Given the description of an element on the screen output the (x, y) to click on. 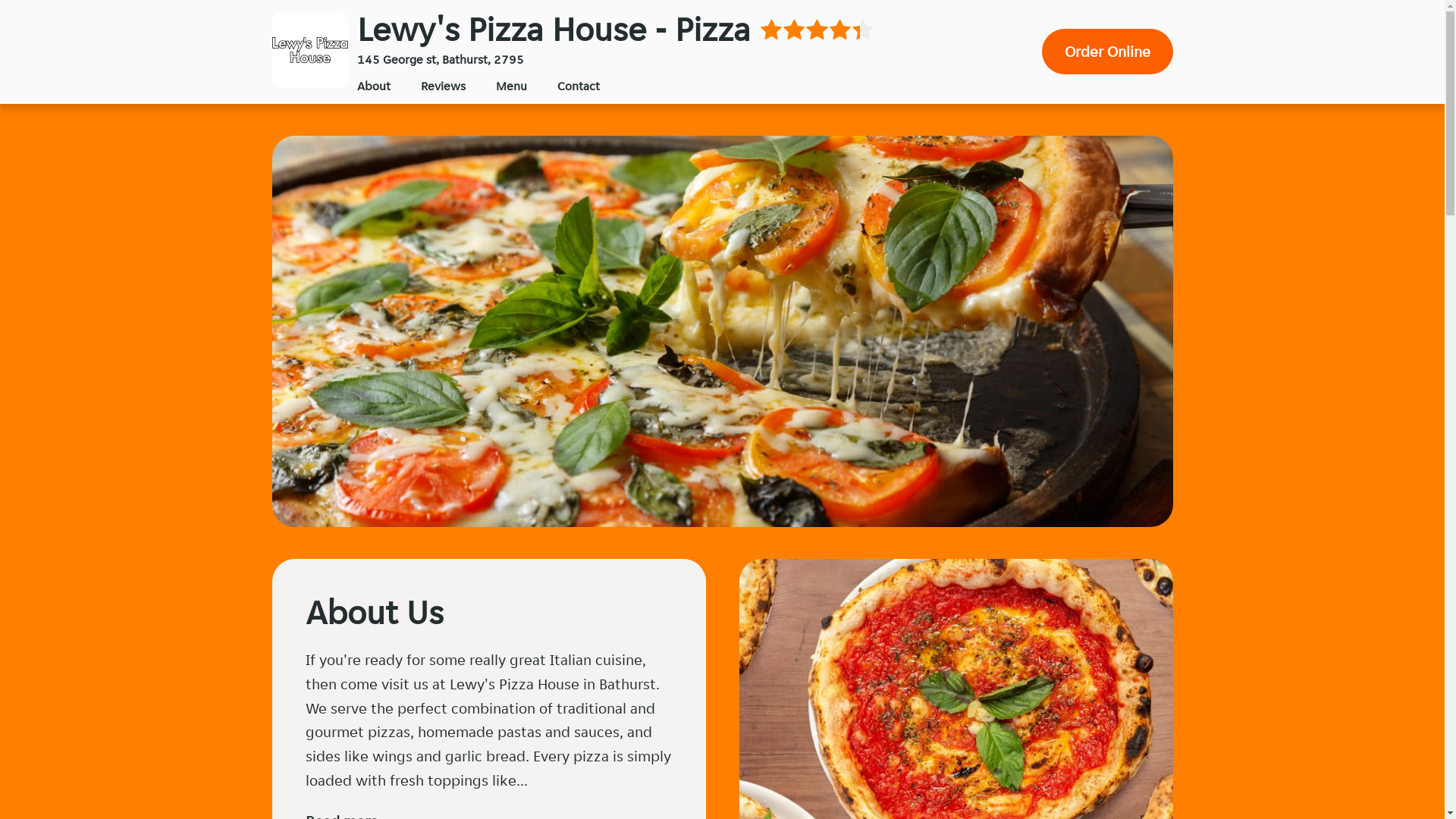
Reviews Element type: text (442, 86)
Order Online Element type: text (1107, 51)
About Element type: text (372, 86)
Lewy's Pizza House Element type: hover (309, 49)
Menu Element type: text (511, 86)
Contact Element type: text (577, 86)
